Given the description of an element on the screen output the (x, y) to click on. 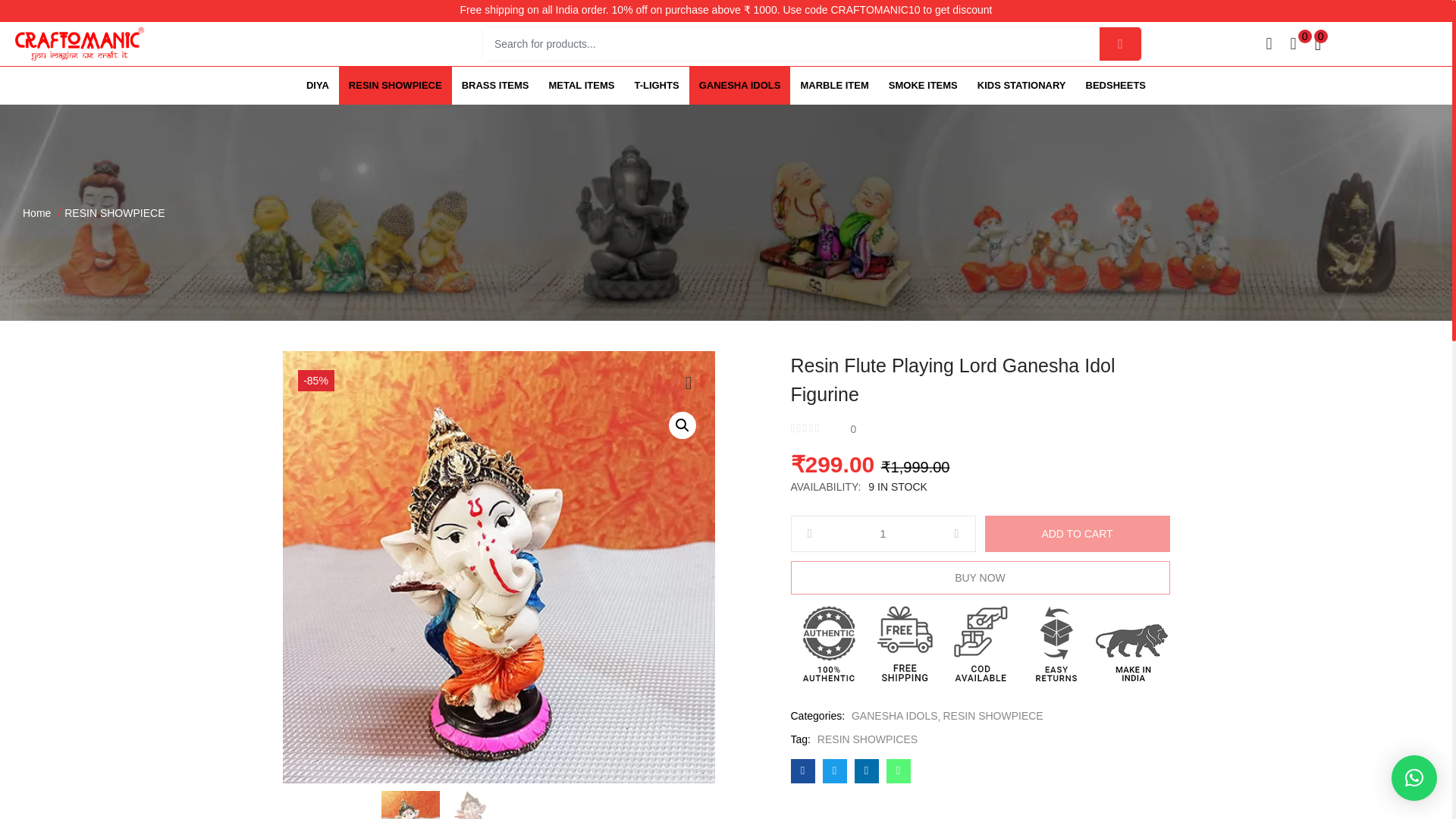
MAKE IN INDIA (1131, 643)
Easy Returns (1055, 642)
Resin Flute Playing Lord Ganesha Idol Figurine (801, 770)
COD Available (979, 642)
1 (882, 533)
Free shipping (904, 642)
